Given the description of an element on the screen output the (x, y) to click on. 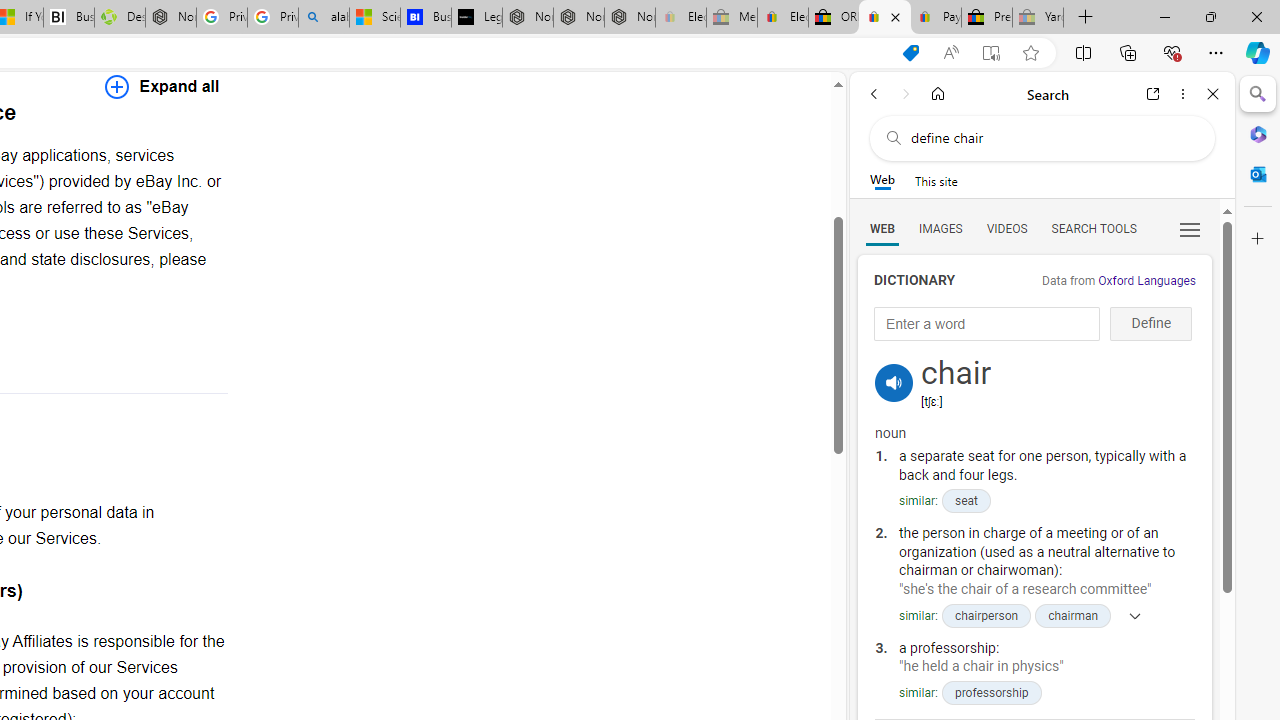
Link for logging (893, 359)
seat (965, 501)
Payments Terms of Use | eBay.com (936, 17)
alabama high school quarterback dies - Search (324, 17)
Yard, Garden & Outdoor Living - Sleeping (1037, 17)
